Given the description of an element on the screen output the (x, y) to click on. 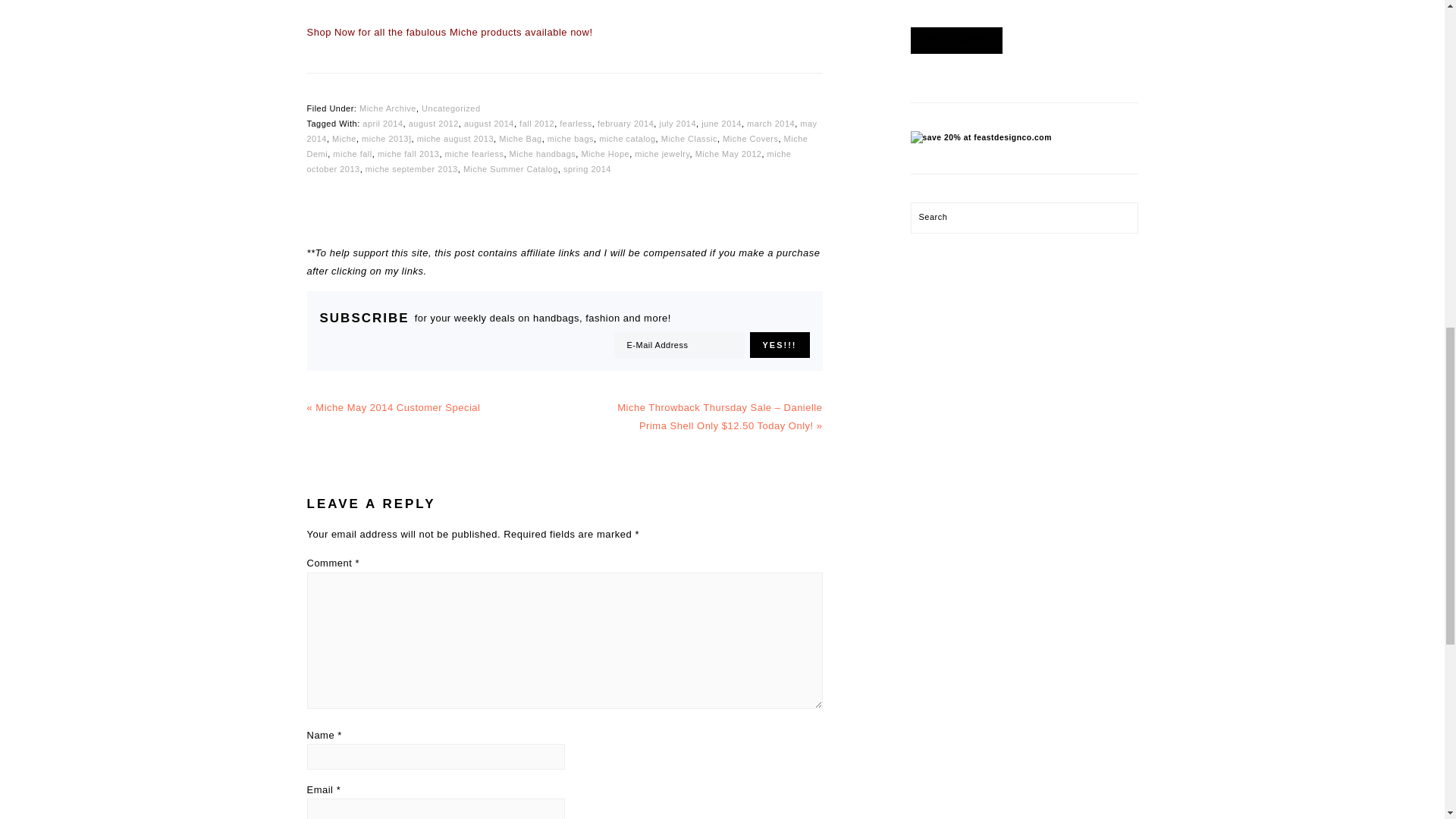
Miche Archive (387, 108)
april 2014 (382, 122)
Uncategorized (451, 108)
Yes!!! (779, 344)
august 2014 (488, 122)
august 2012 (433, 122)
fall 2012 (536, 122)
Shop Now for all the fabulous Miche products available now! (448, 31)
july 2014 (677, 122)
